Given the description of an element on the screen output the (x, y) to click on. 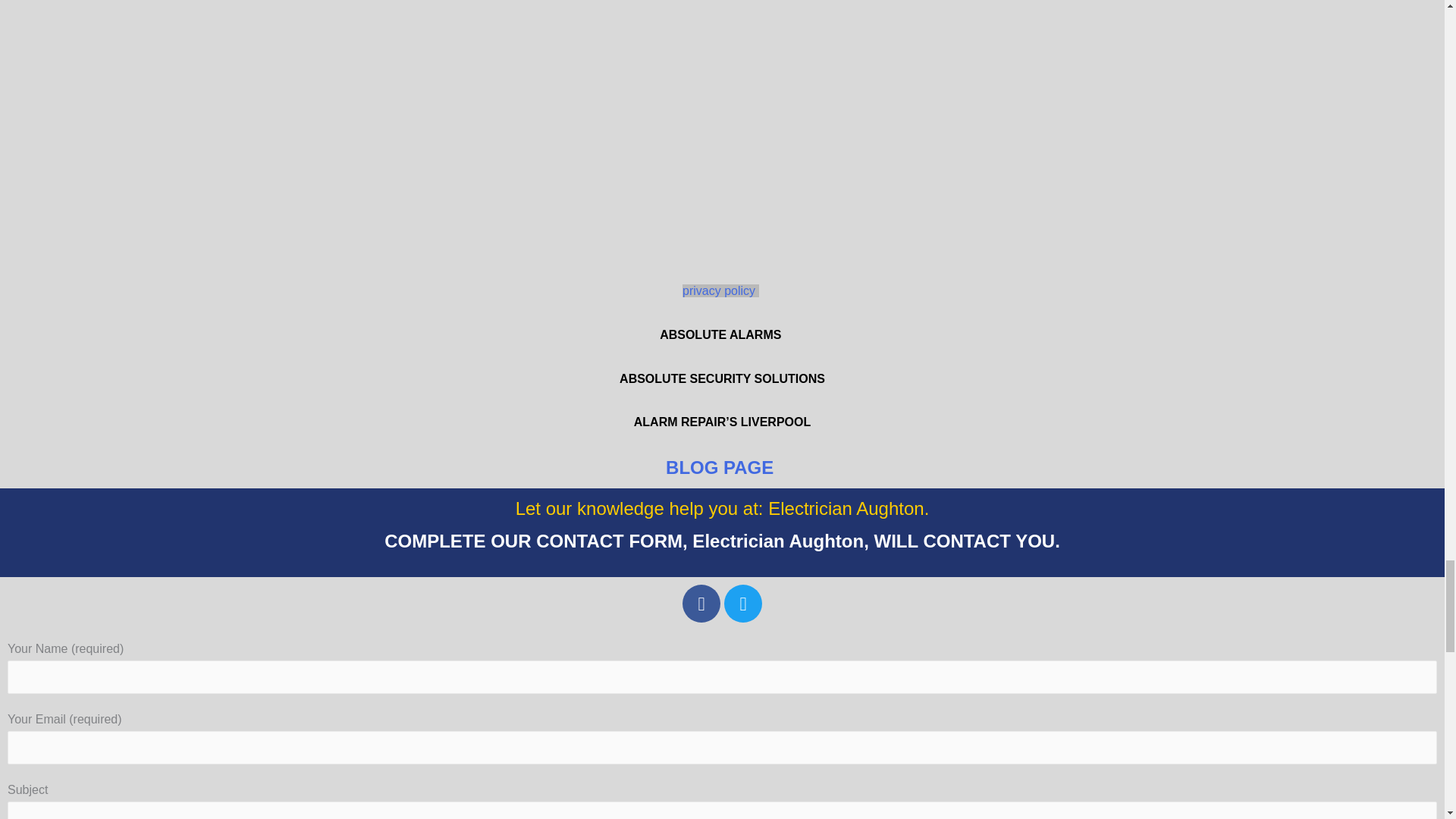
ABSOLUTE ALARMS  (721, 334)
ABSOLUTE SECURITY SOLUTIONS (722, 378)
BLOG PAGE  (721, 467)
privacy policy  (720, 290)
